Given the description of an element on the screen output the (x, y) to click on. 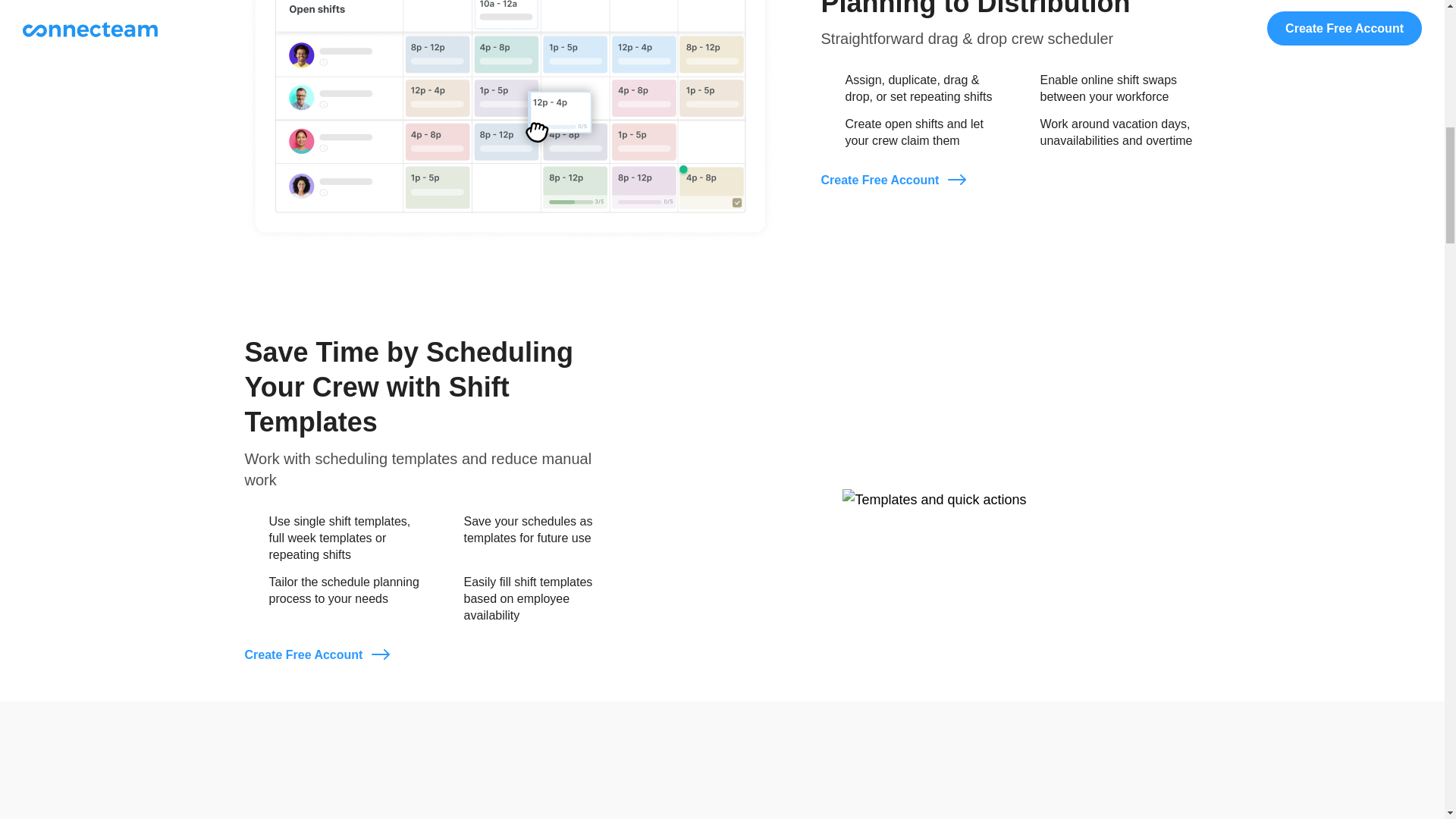
Create Free Account (893, 180)
Create Free Account (316, 655)
